Given the description of an element on the screen output the (x, y) to click on. 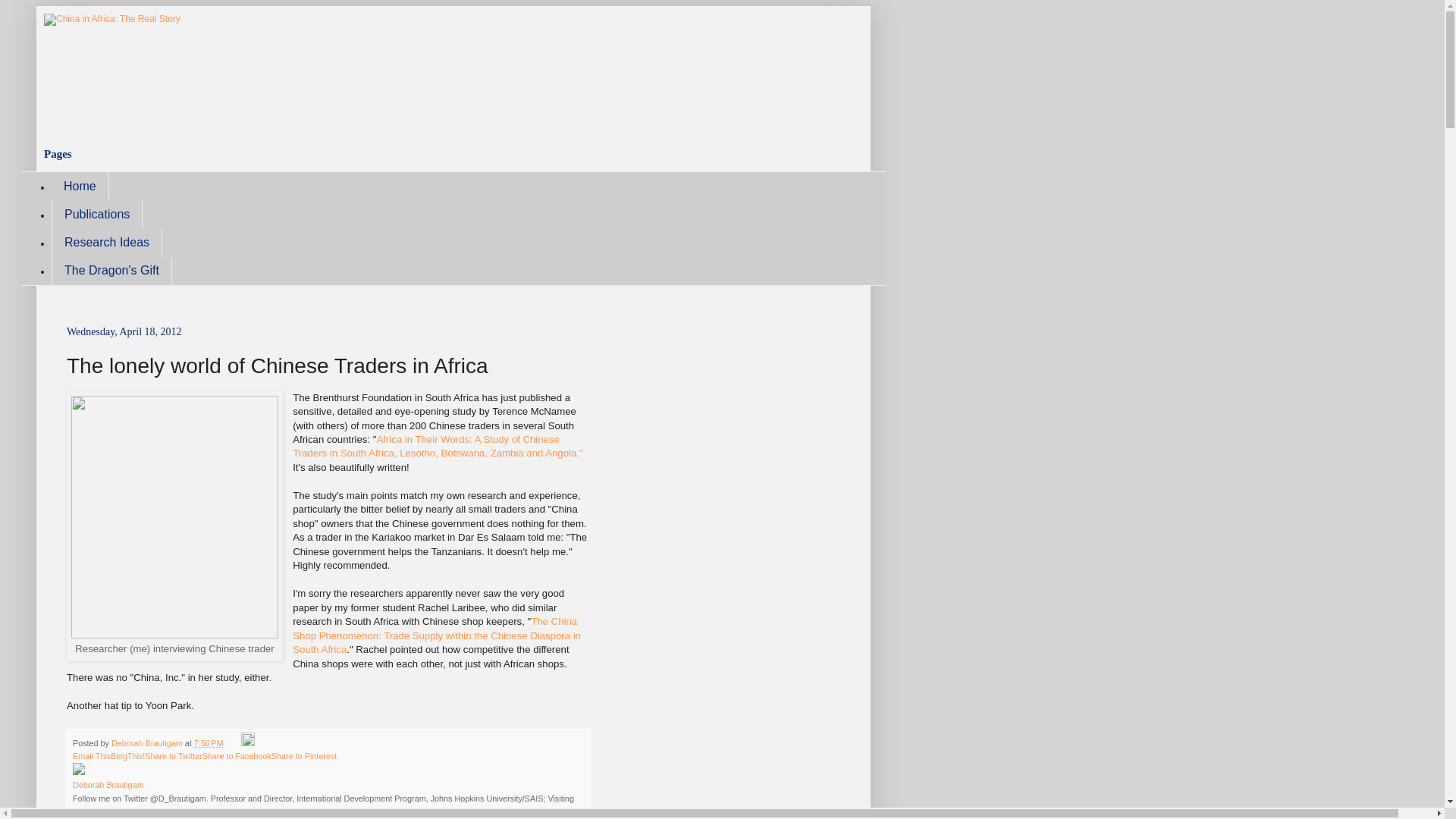
Deborah Brautigam (108, 784)
BlogThis! (127, 755)
Share to Twitter (173, 755)
Edit Post (247, 742)
Share to Facebook (236, 755)
Home (79, 185)
Share to Facebook (236, 755)
author profile (108, 784)
The Dragon's Gift (110, 271)
Deborah Brautigam (148, 742)
BlogThis! (127, 755)
Share to Twitter (173, 755)
Publications (96, 213)
